Given the description of an element on the screen output the (x, y) to click on. 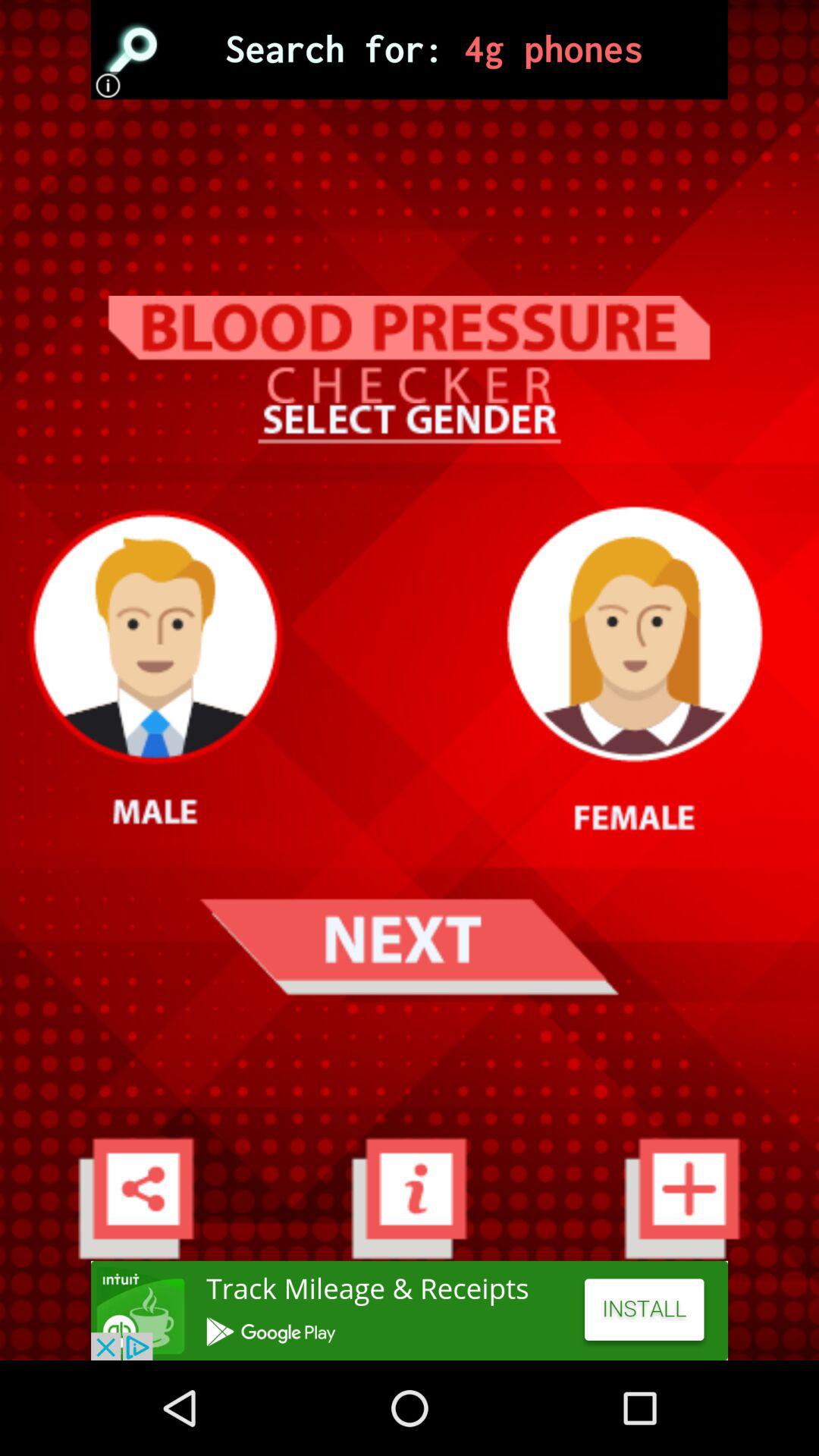
in app advertisement (409, 1310)
